Given the description of an element on the screen output the (x, y) to click on. 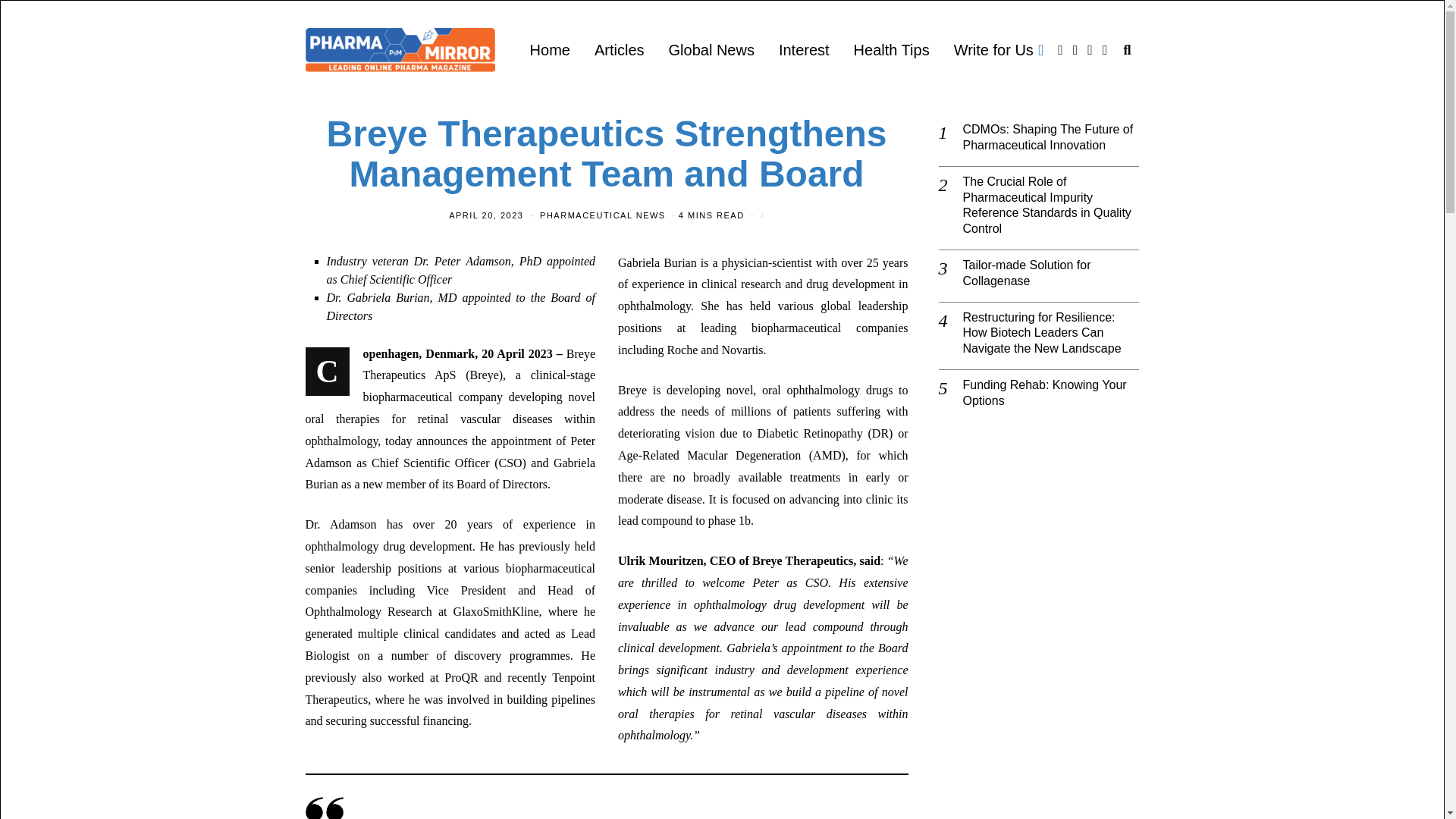
Health Tips (891, 50)
CDMOs: Shaping The Future of Pharmaceutical Innovation (1051, 137)
Tailor-made Solution for Collagenase (1051, 273)
Home (549, 50)
Write for Us (998, 50)
Global News (711, 50)
Interest (804, 50)
Articles (619, 50)
PHARMACEUTICAL NEWS (602, 215)
